Given the description of an element on the screen output the (x, y) to click on. 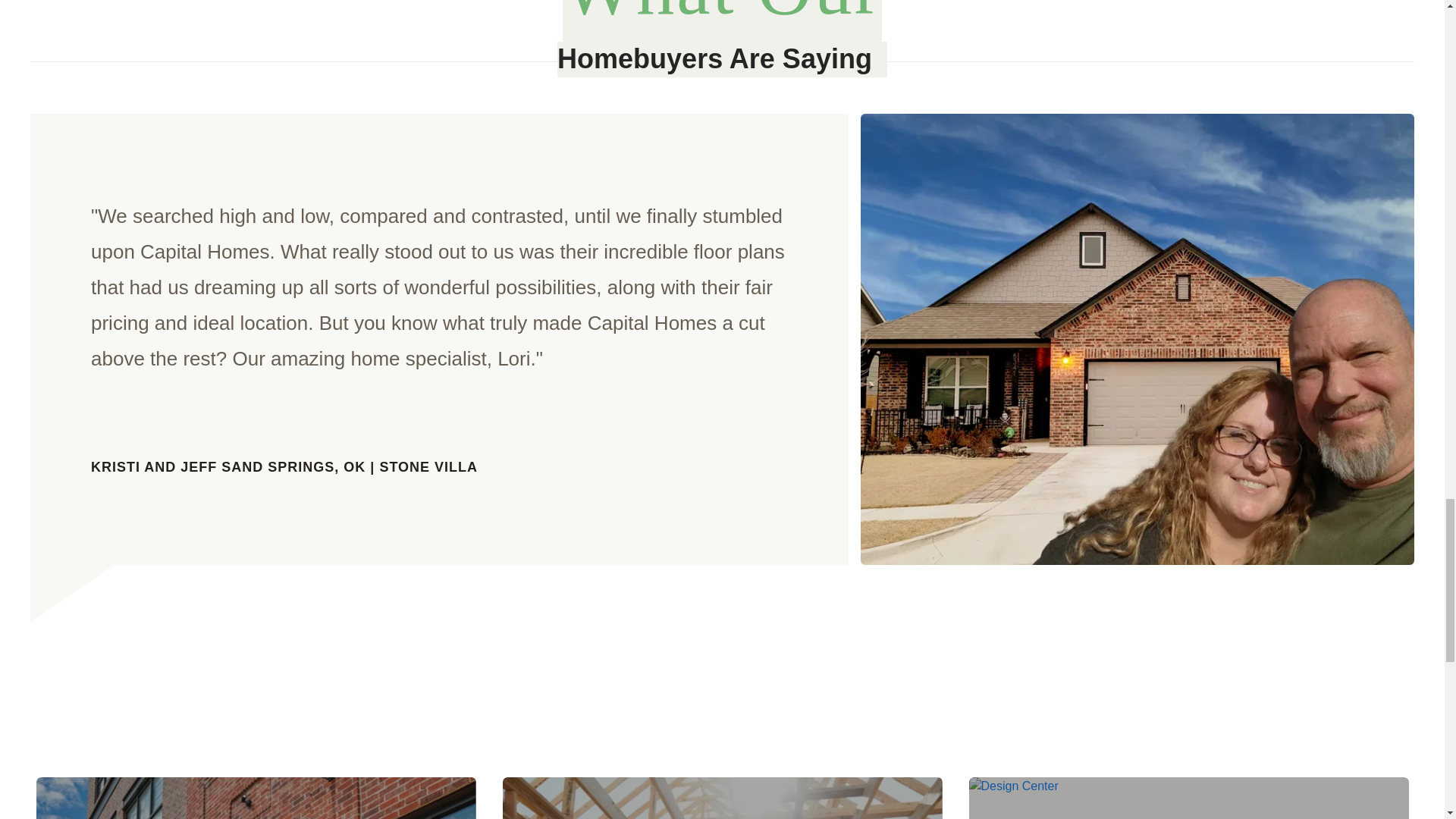
Locations (256, 798)
Design Center (1189, 798)
Building Process (722, 798)
